Given the description of an element on the screen output the (x, y) to click on. 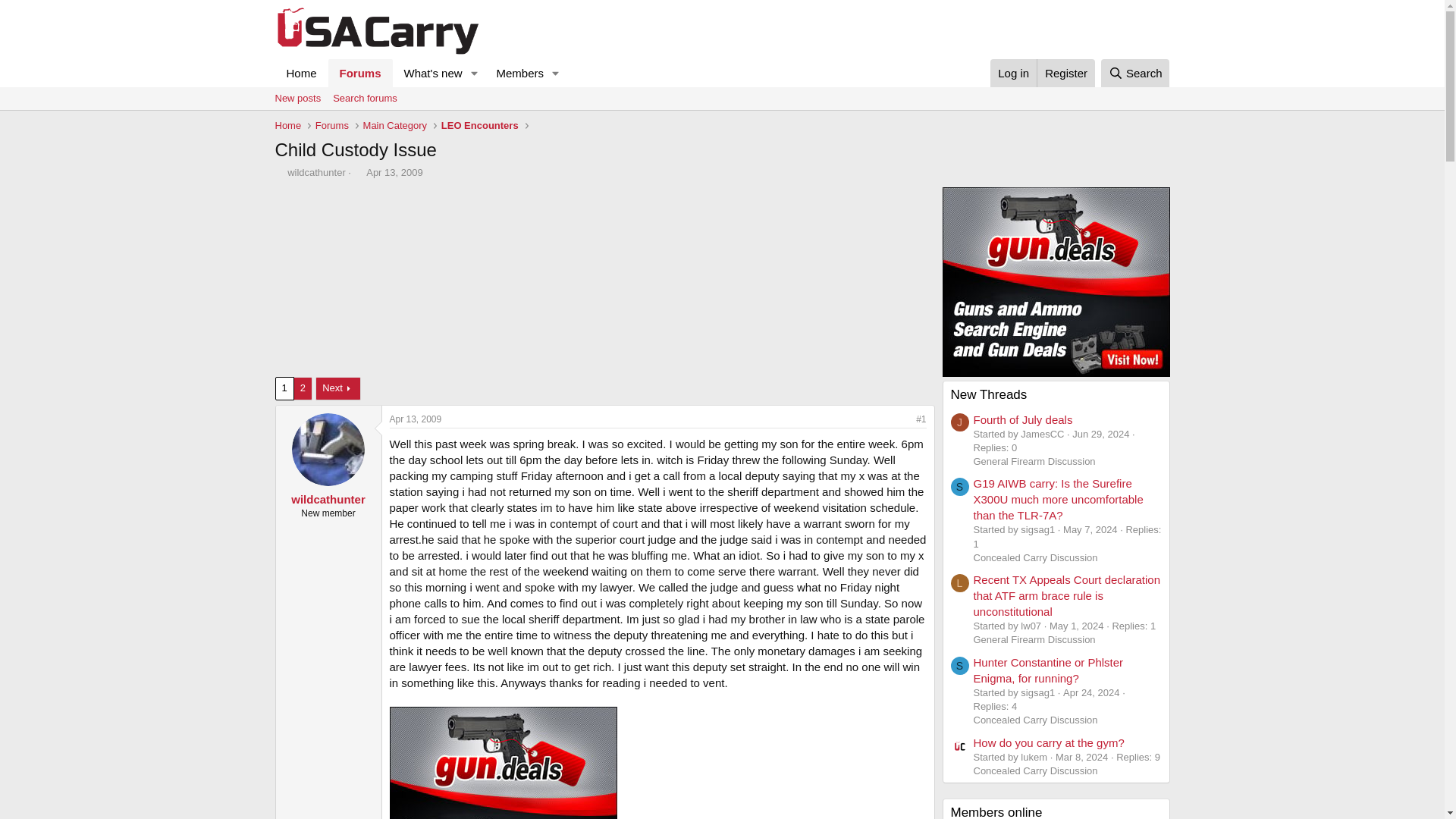
Main Category (394, 126)
Thread starter (279, 172)
Home (301, 72)
wildcathunter (316, 172)
Log in (1013, 72)
Register (1065, 72)
What's new (428, 72)
New posts (296, 97)
Apr 13, 2009 at 12:14 PM (394, 172)
Search (1135, 72)
Next (338, 387)
LEO Encounters (480, 126)
Forums (331, 126)
Search forums (364, 97)
Apr 13, 2009 at 12:14 PM (416, 419)
